Given the description of an element on the screen output the (x, y) to click on. 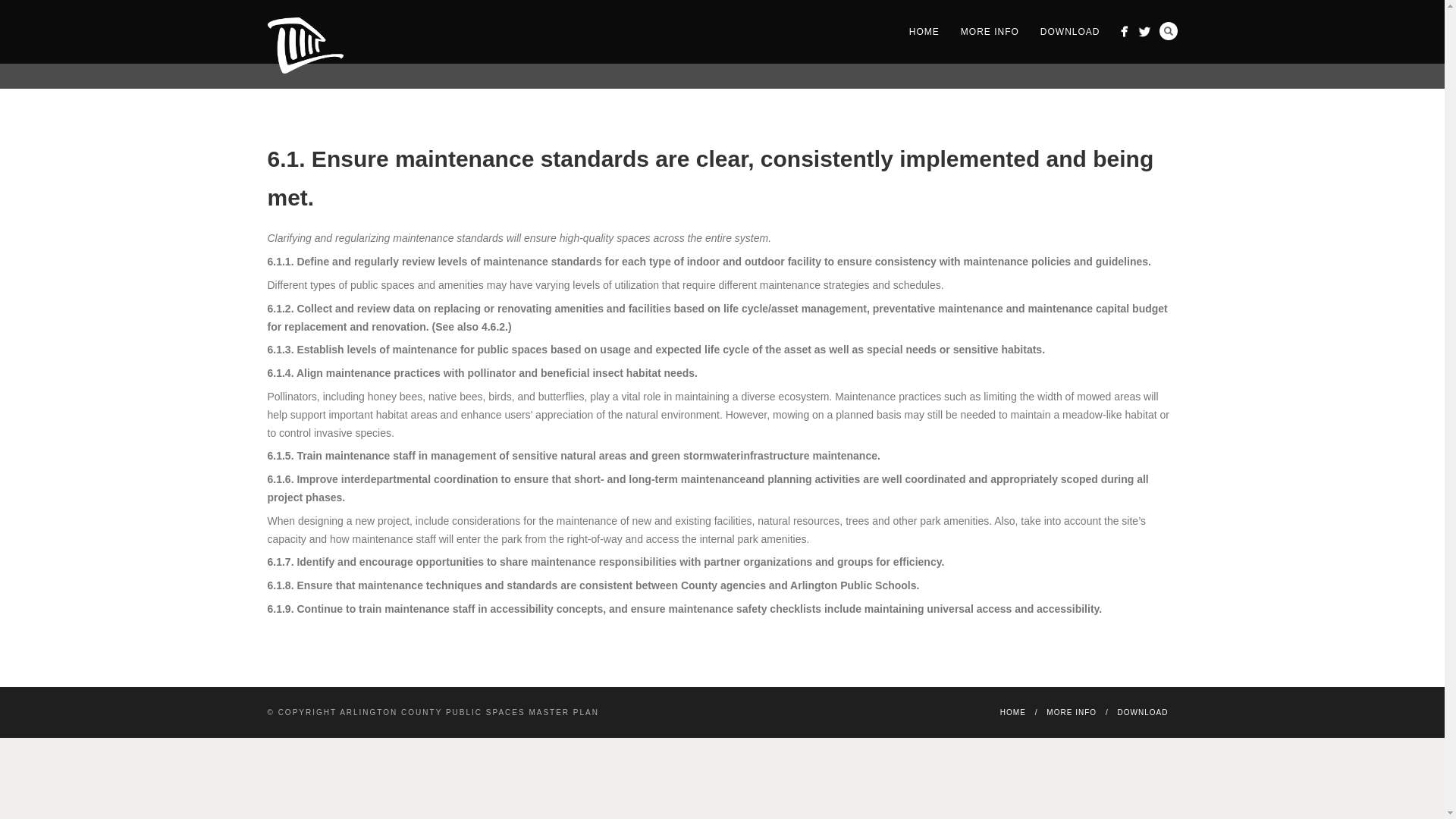
DOWNLOAD (1143, 712)
Search (1167, 31)
DOWNLOAD (1069, 31)
MORE INFO (989, 31)
Follow us on Twitter (1143, 31)
HOME (924, 31)
MORE INFO (1071, 712)
HOME (1013, 712)
Pexeto on Facebook (1124, 31)
